Given the description of an element on the screen output the (x, y) to click on. 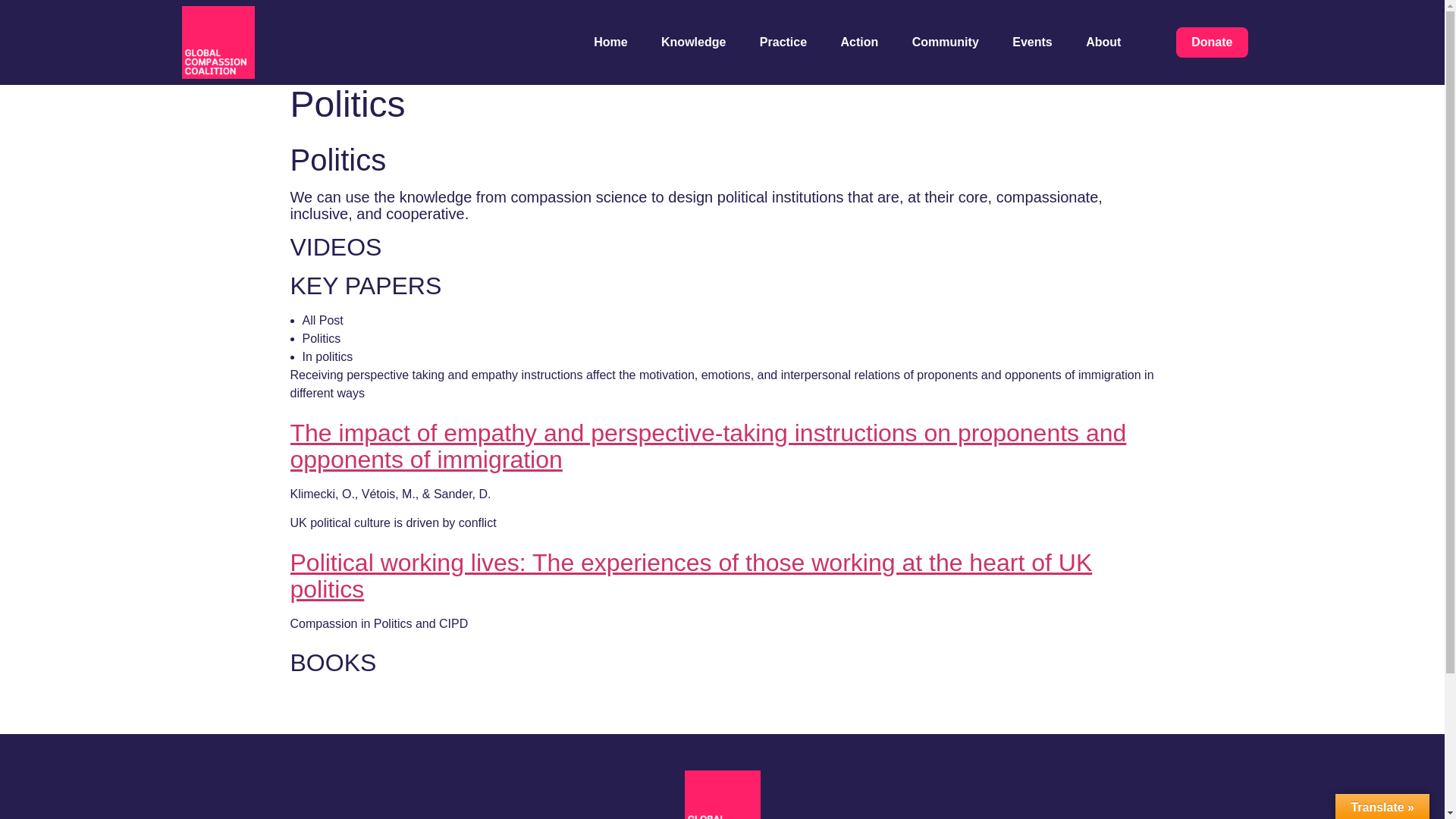
Home (610, 42)
Action (860, 42)
Community (945, 42)
Donate (1211, 42)
Practice (783, 42)
Knowledge (693, 42)
Events (1031, 42)
About (1103, 42)
